Given the description of an element on the screen output the (x, y) to click on. 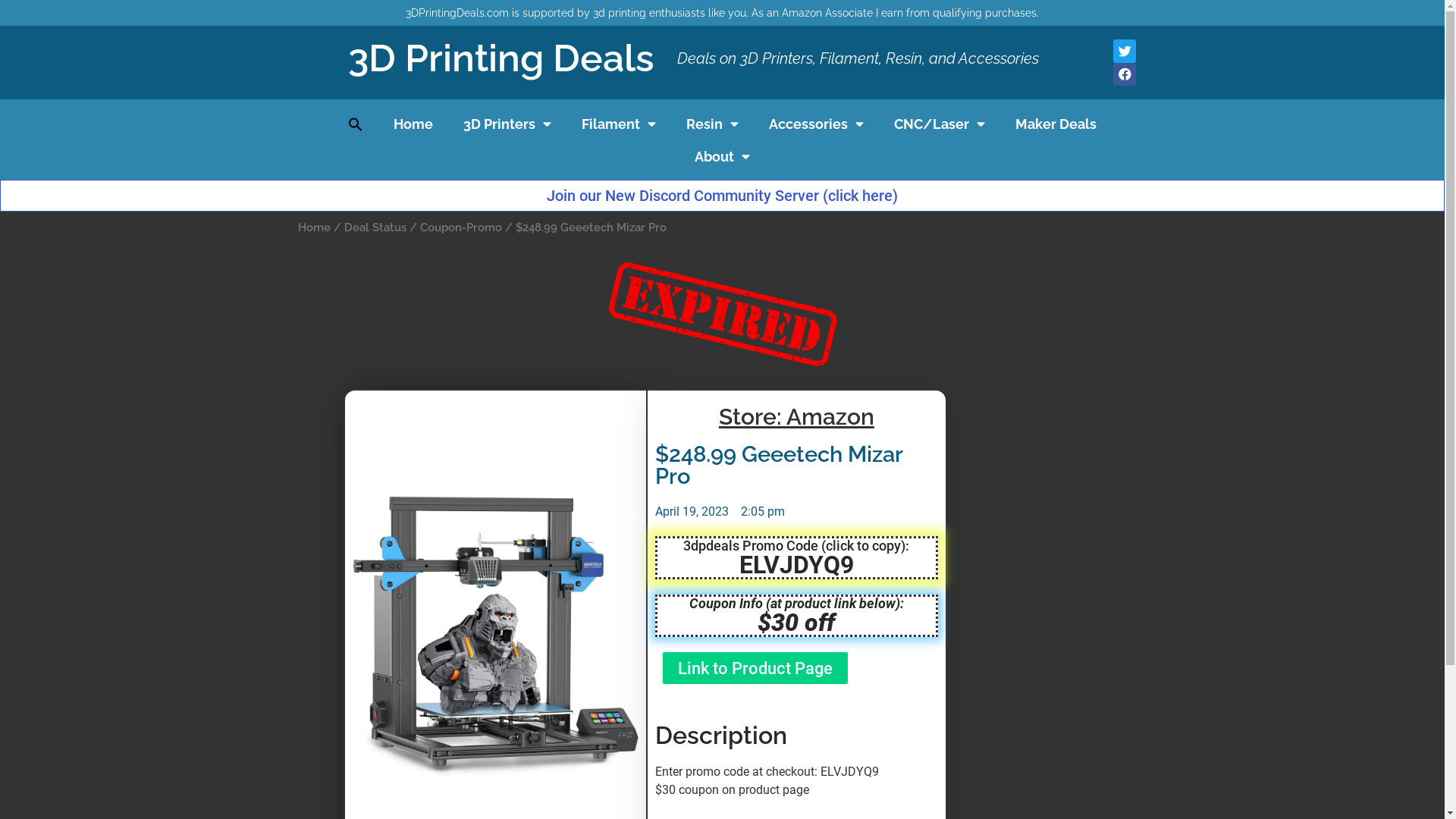
Filament Element type: text (618, 123)
Maker Deals Element type: text (1055, 123)
Amazon Element type: text (830, 416)
3D Printers Element type: text (507, 123)
Home Element type: text (313, 226)
Resin Element type: text (712, 123)
3D Printing Deals Element type: text (501, 57)
Deal Status Element type: text (375, 226)
About Element type: text (722, 156)
Coupon-Promo Element type: text (461, 226)
Join our New Discord Community Server (click here) Element type: text (721, 195)
CNC/Laser Element type: text (939, 123)
Link to Product Page Element type: text (754, 668)
Home Element type: text (413, 123)
Accessories Element type: text (815, 123)
